Given the description of an element on the screen output the (x, y) to click on. 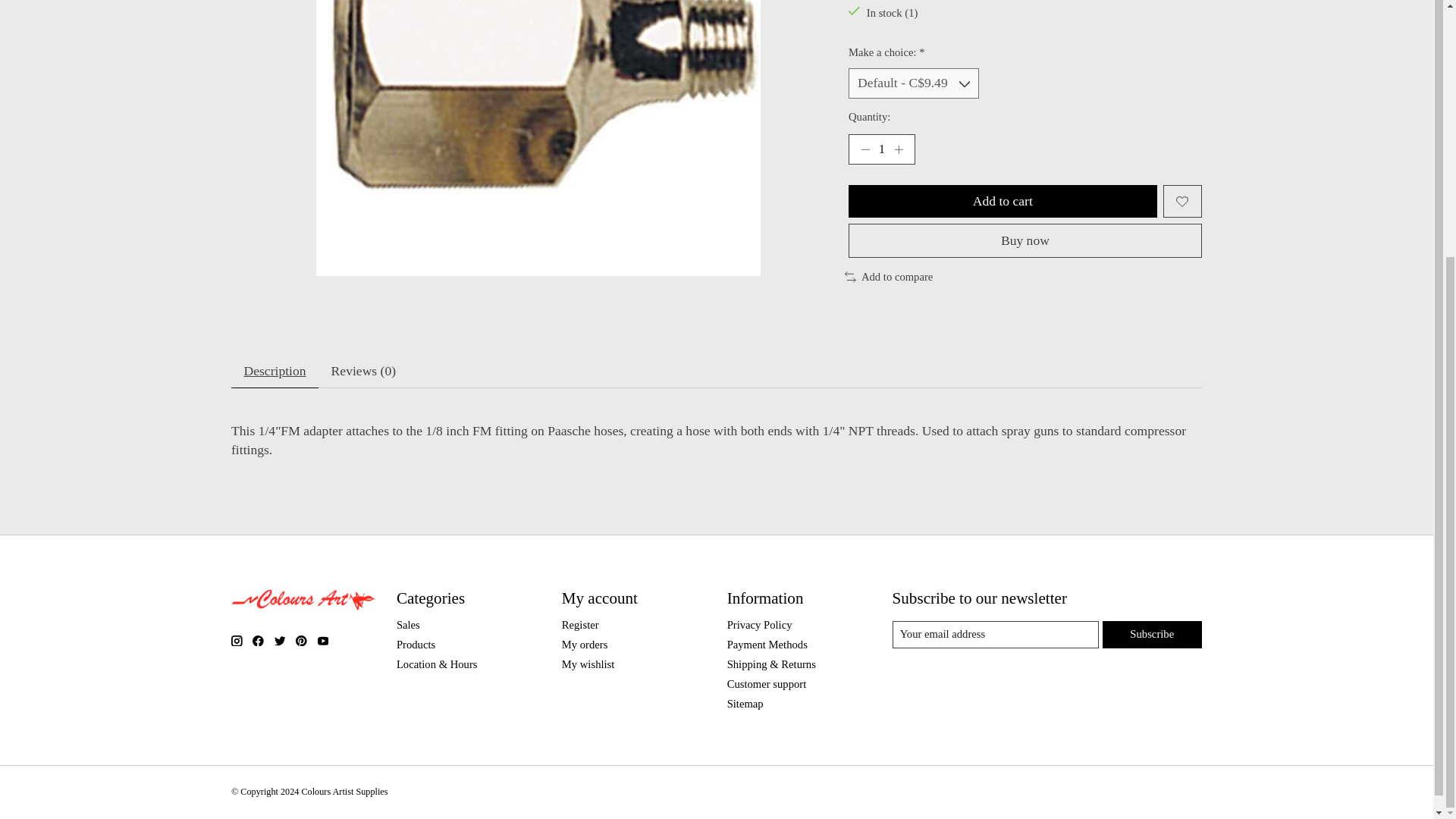
My orders (585, 644)
Privacy Policy (759, 624)
Customer support (766, 684)
1 (881, 149)
My wishlist (588, 664)
Payment Methods (767, 644)
Register (580, 624)
Sitemap (744, 703)
